Given the description of an element on the screen output the (x, y) to click on. 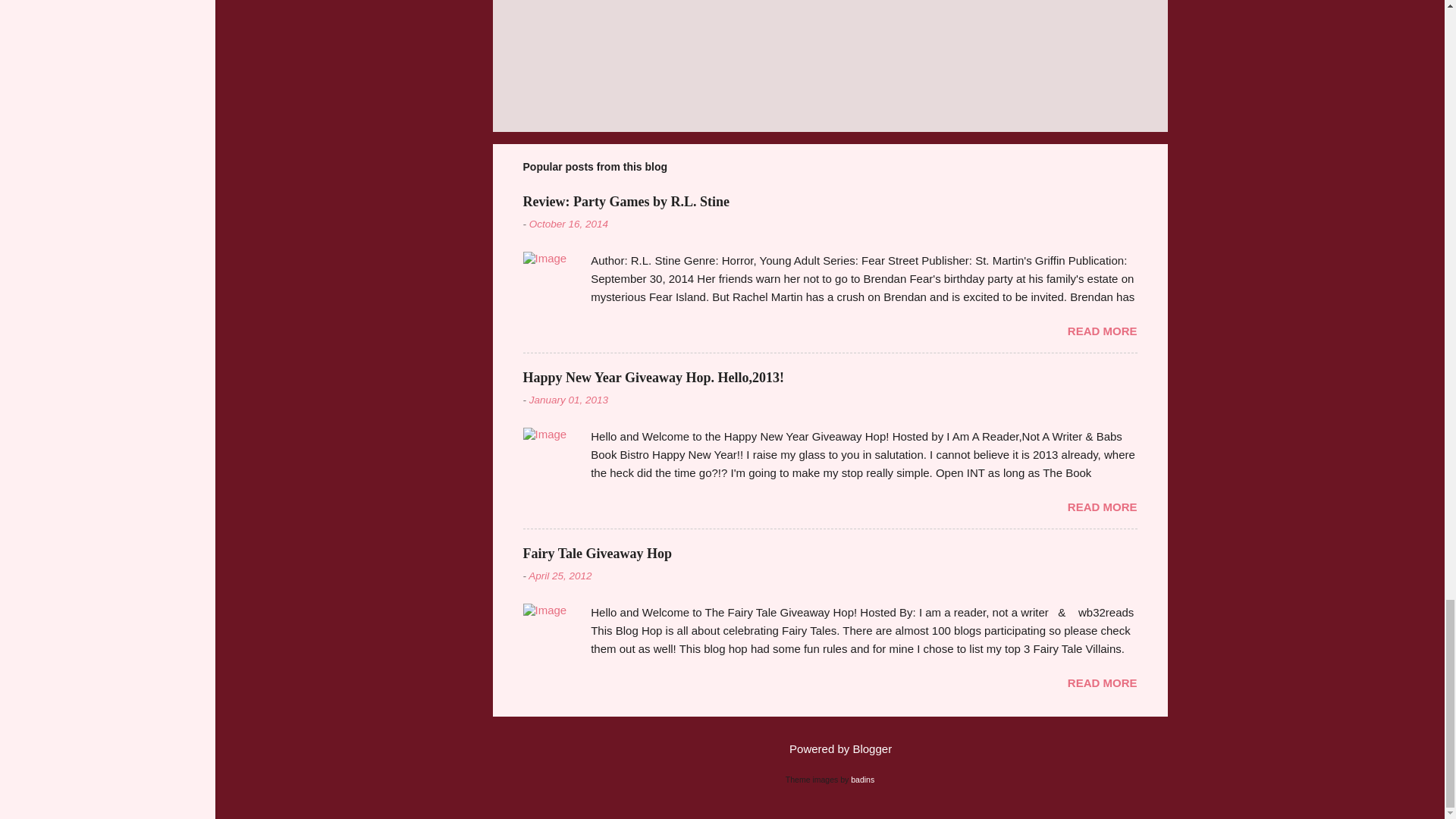
Review: Party Games by R.L. Stine (625, 201)
October 16, 2014 (568, 224)
permanent link (568, 224)
